Given the description of an element on the screen output the (x, y) to click on. 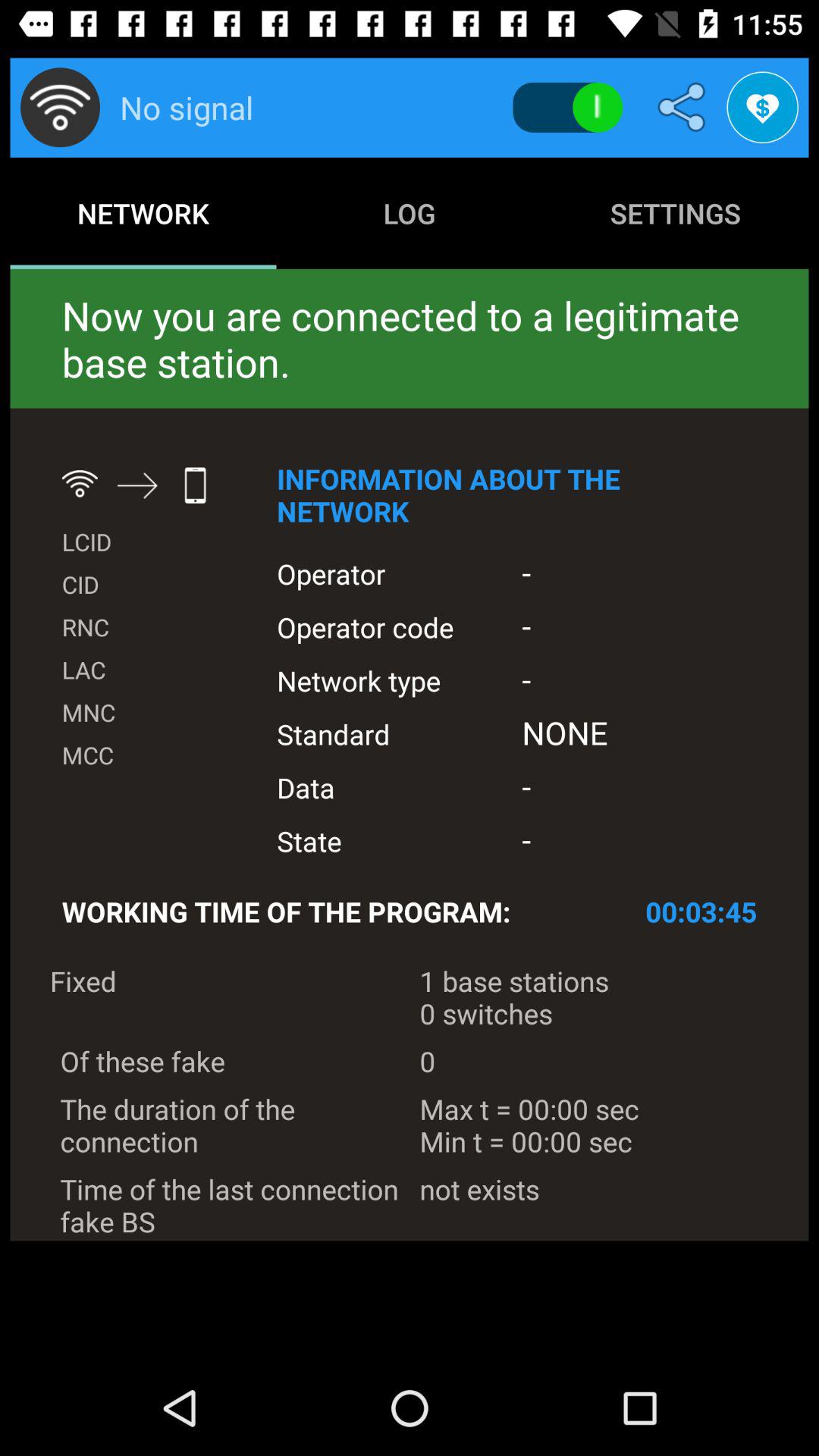
toggle on/off (567, 107)
